Given the description of an element on the screen output the (x, y) to click on. 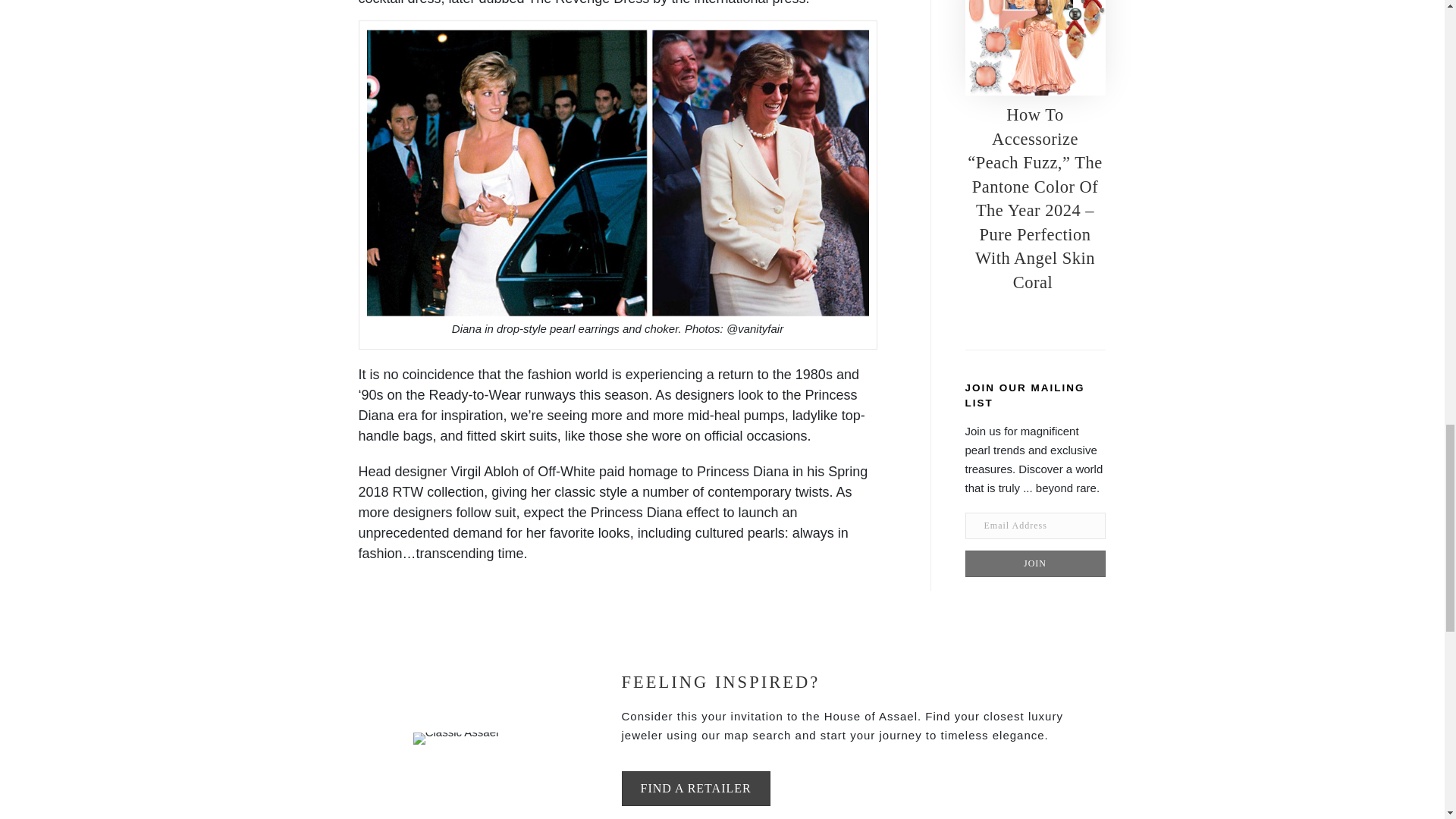
Classic Assael (456, 738)
JOIN (1034, 563)
FIND A RETAILER (695, 788)
